Given the description of an element on the screen output the (x, y) to click on. 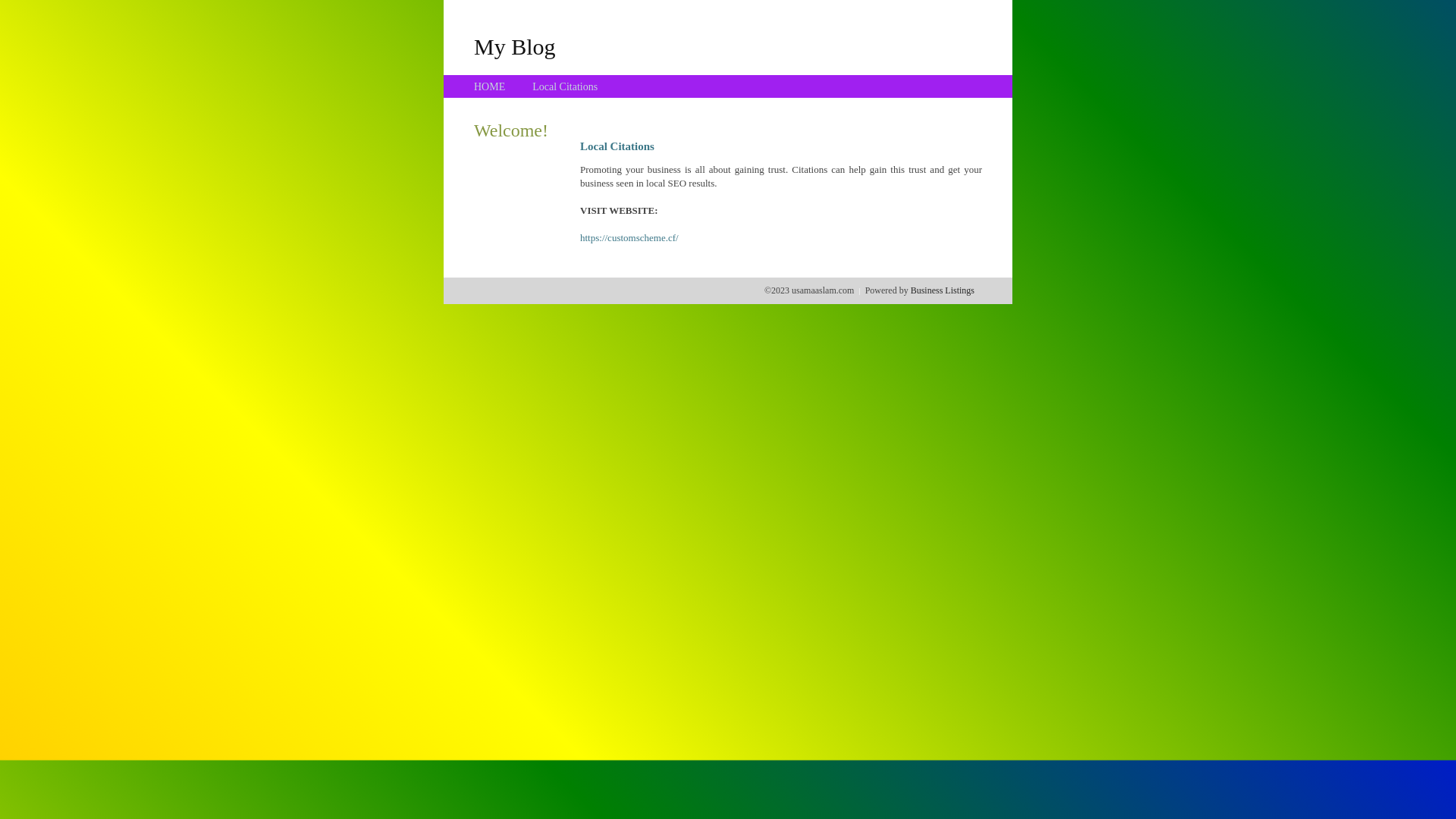
Business Listings Element type: text (942, 290)
HOME Element type: text (489, 86)
Local Citations Element type: text (564, 86)
https://customscheme.cf/ Element type: text (629, 237)
My Blog Element type: text (514, 46)
